Given the description of an element on the screen output the (x, y) to click on. 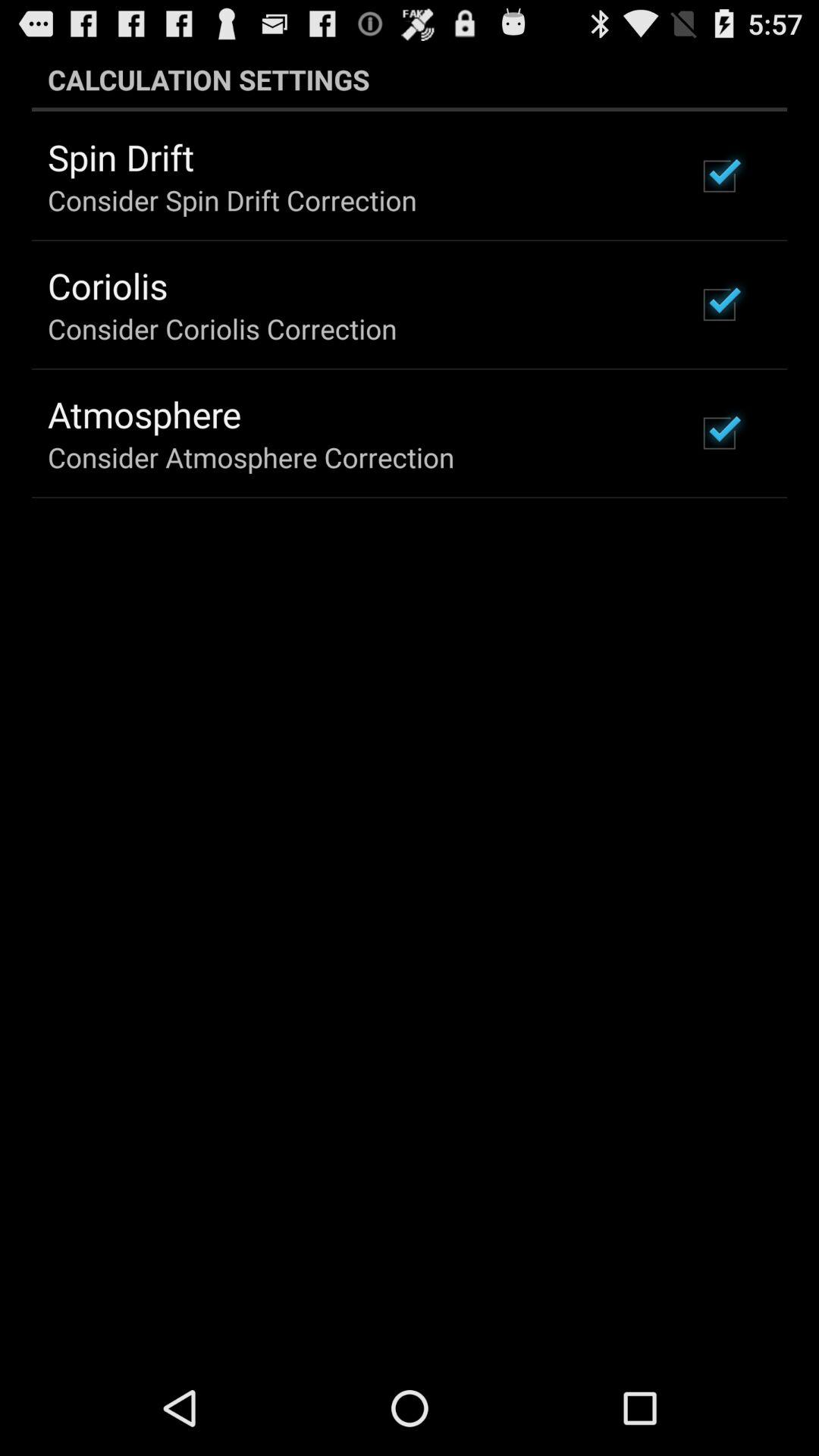
click the app above the spin drift icon (409, 79)
